Given the description of an element on the screen output the (x, y) to click on. 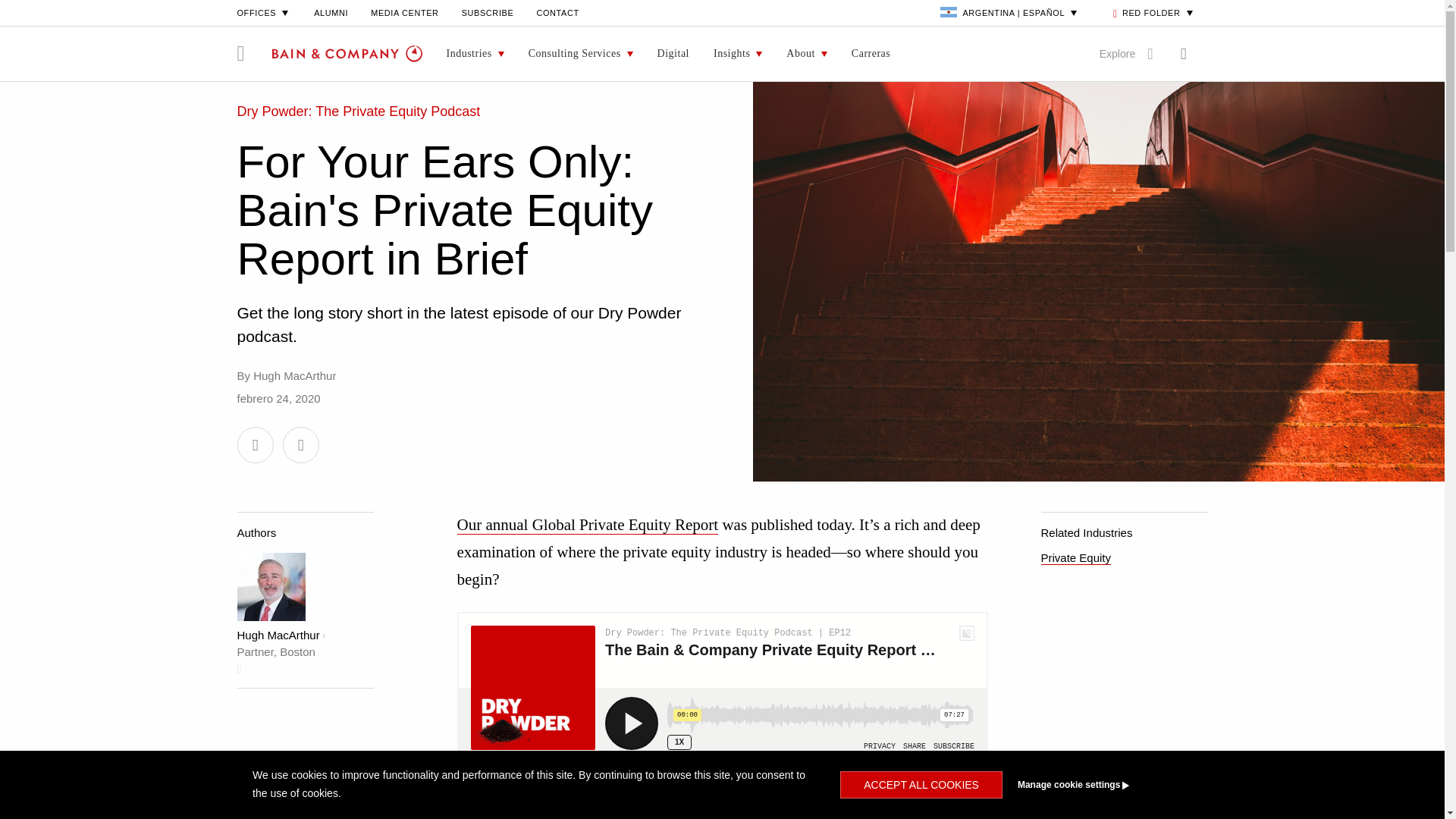
Manage cookie settings (1101, 784)
OFFICES (263, 12)
ACCEPT ALL COOKIES (921, 784)
